Given the description of an element on the screen output the (x, y) to click on. 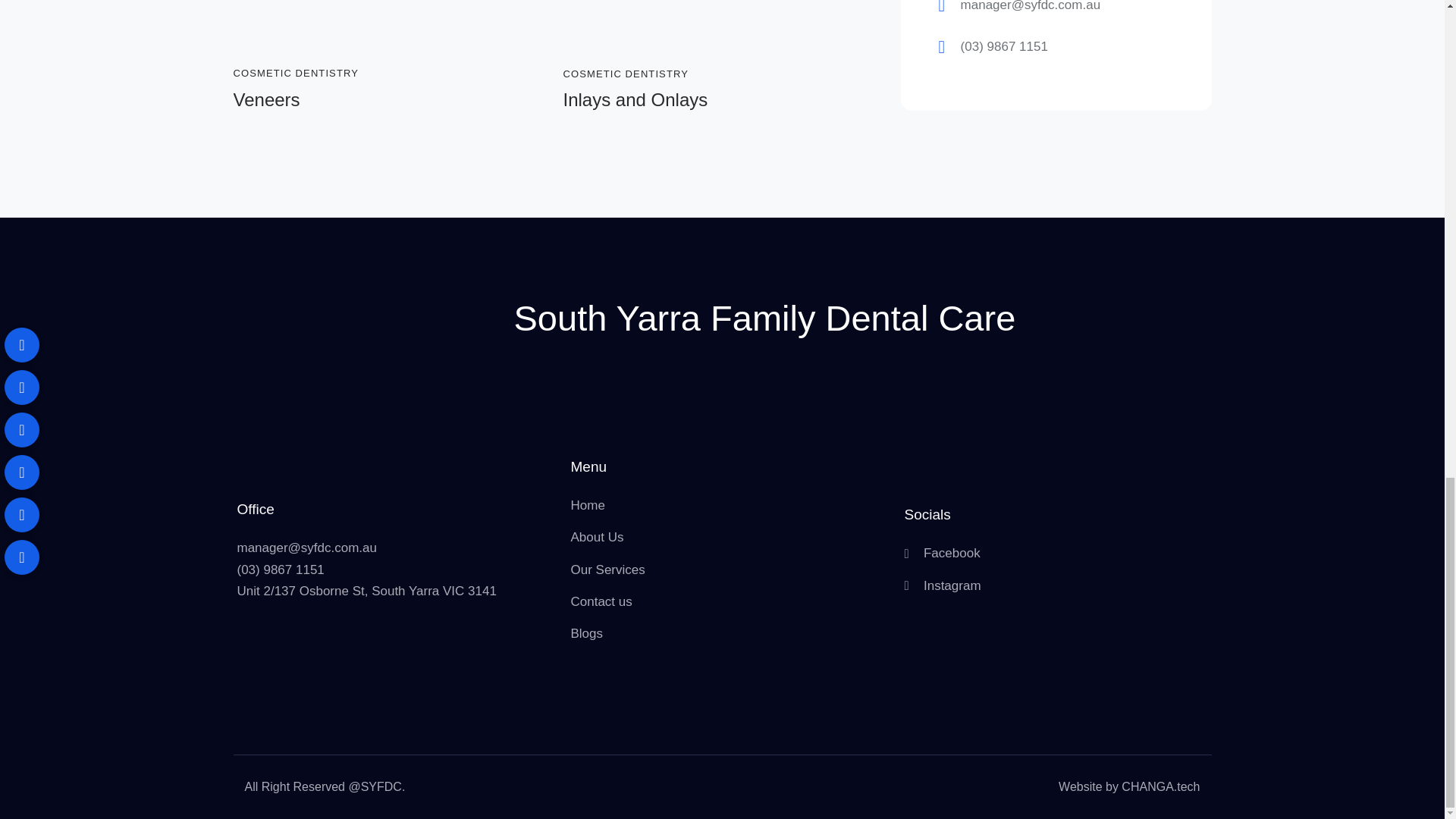
View all posts in Cosmetic Dentistry (624, 73)
View all posts in Cosmetic Dentistry (295, 72)
